Given the description of an element on the screen output the (x, y) to click on. 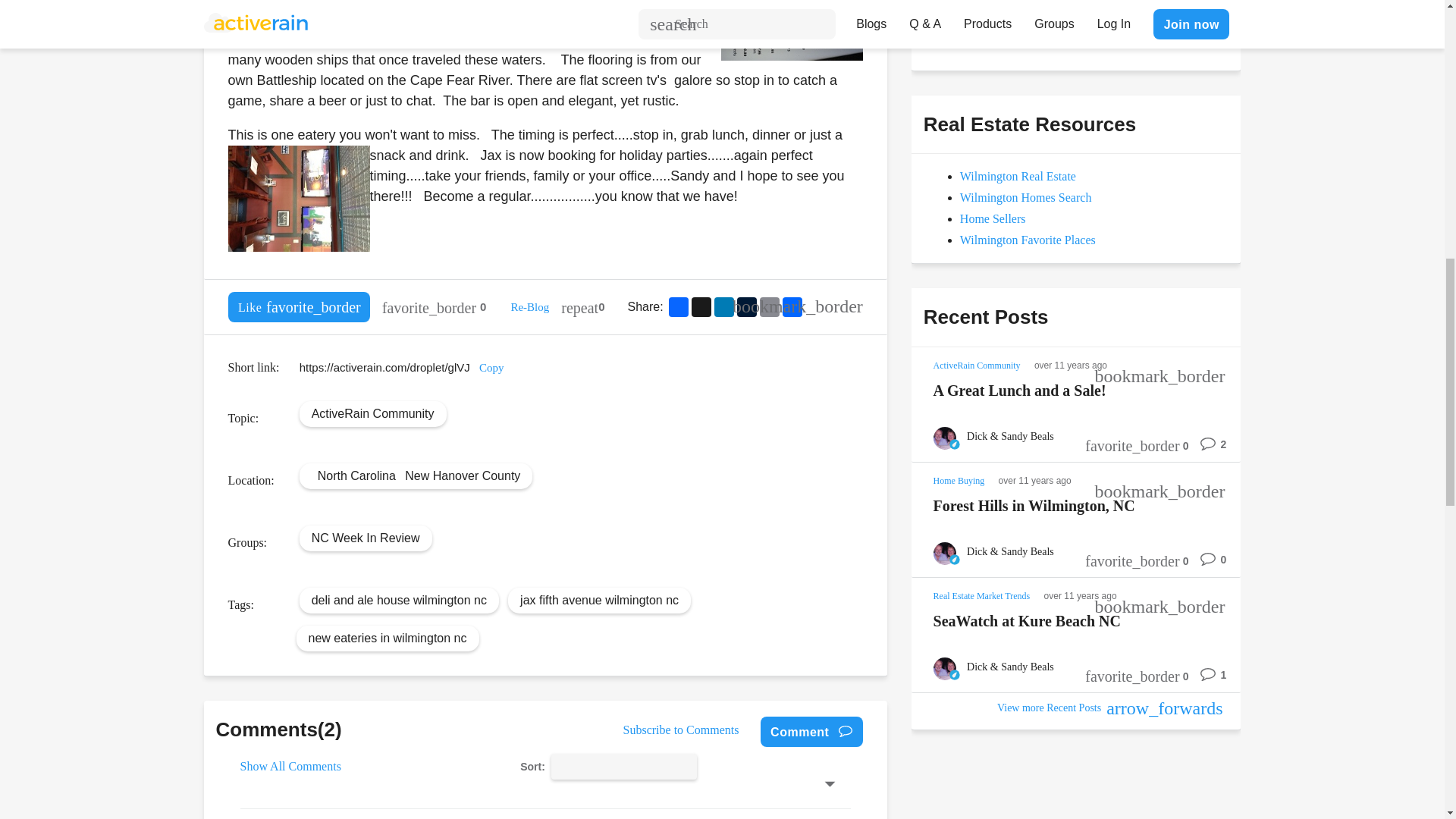
Home Sellers (992, 218)
LinkedIn (724, 306)
Copy (491, 367)
Re-Blog (529, 306)
Wilmington Homes Search (1025, 196)
Wilmington Real Estate (1017, 175)
X (701, 306)
Send Message (978, 30)
NC Week In Review (365, 536)
New Hanover County (461, 474)
deli and ale house wilmington nc (398, 599)
ActiveRain Community (372, 412)
North Carolina (356, 474)
repeat 0 (582, 306)
Email (769, 306)
